Given the description of an element on the screen output the (x, y) to click on. 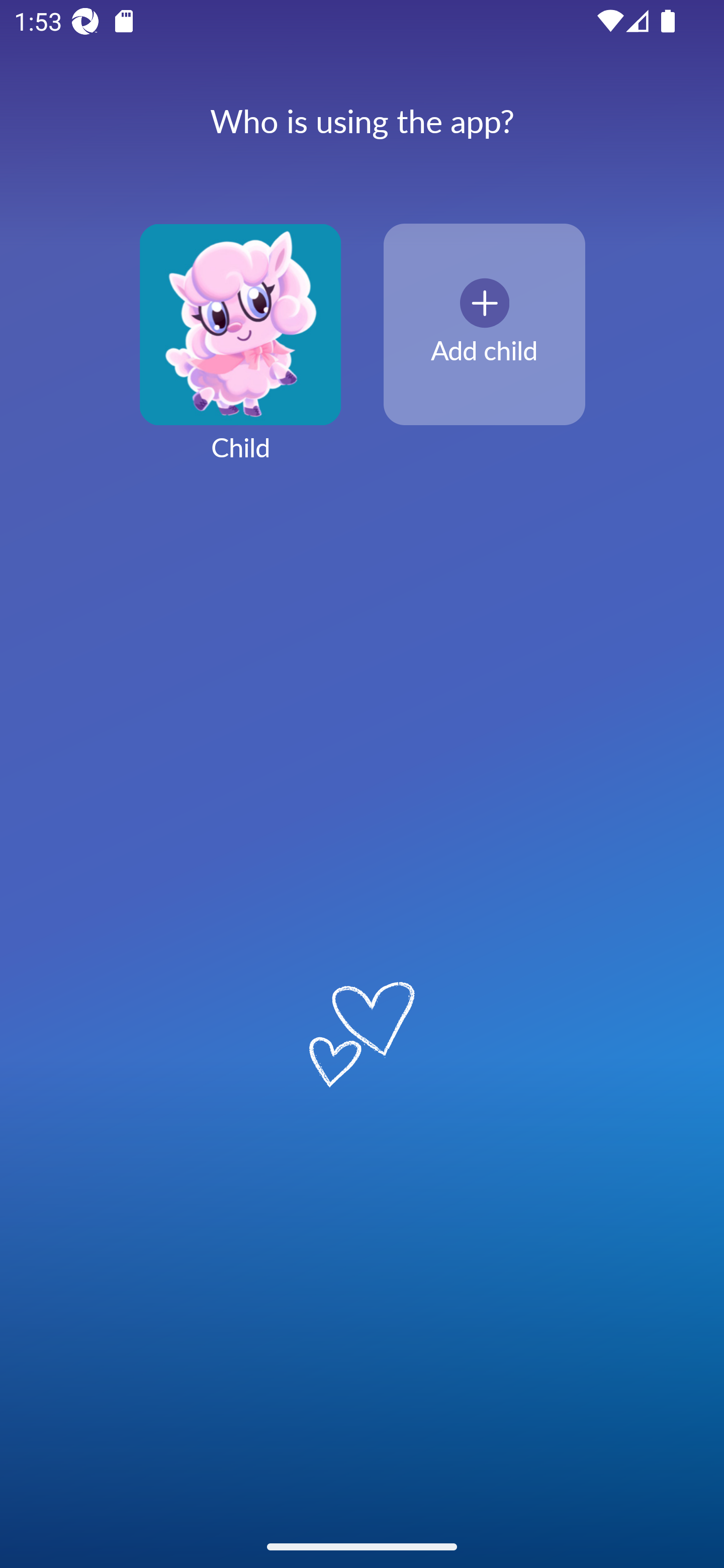
Child (240, 354)
Add child (483, 324)
